Given the description of an element on the screen output the (x, y) to click on. 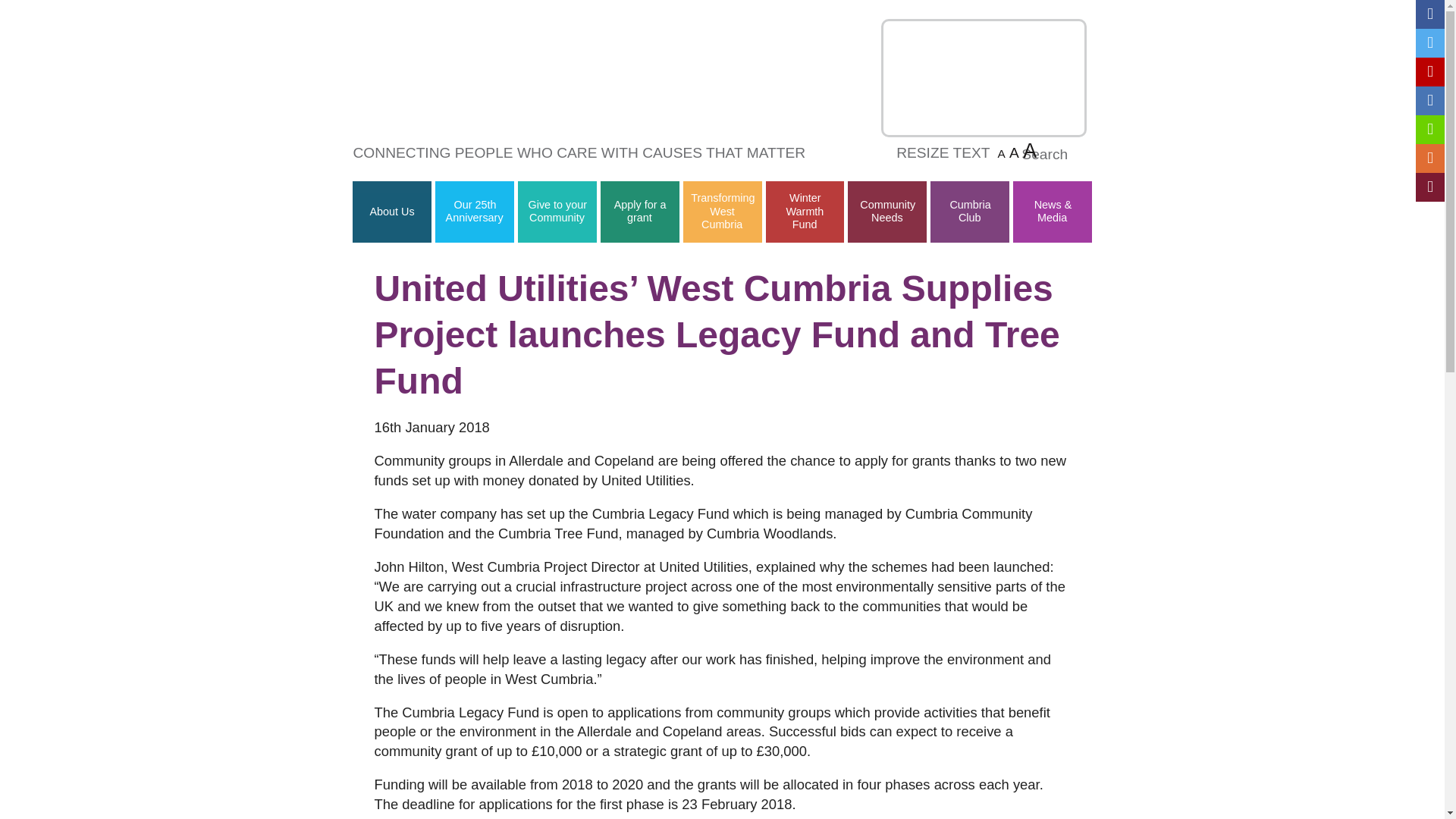
Our 25th Anniversary (474, 211)
A (1000, 153)
Search the site (1080, 155)
Give to your Community (556, 211)
A (1029, 150)
A (1014, 152)
About Us (391, 211)
